Given the description of an element on the screen output the (x, y) to click on. 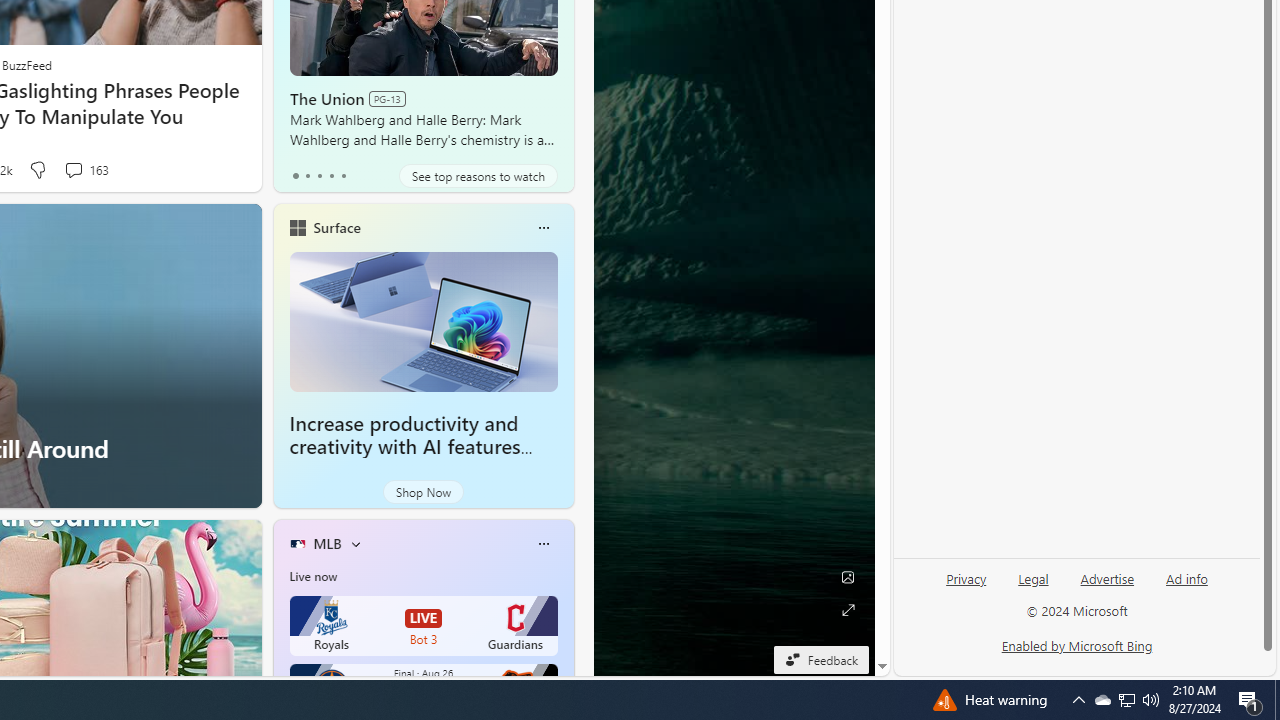
Surface (336, 227)
tab-0 (295, 175)
More interests (355, 543)
tab-3 (331, 175)
Royals LIVE Bot 3 Guardians (423, 625)
Shop Now (422, 491)
Edit Background (847, 577)
View comments 163 Comment (85, 170)
tab-2 (319, 175)
